Given the description of an element on the screen output the (x, y) to click on. 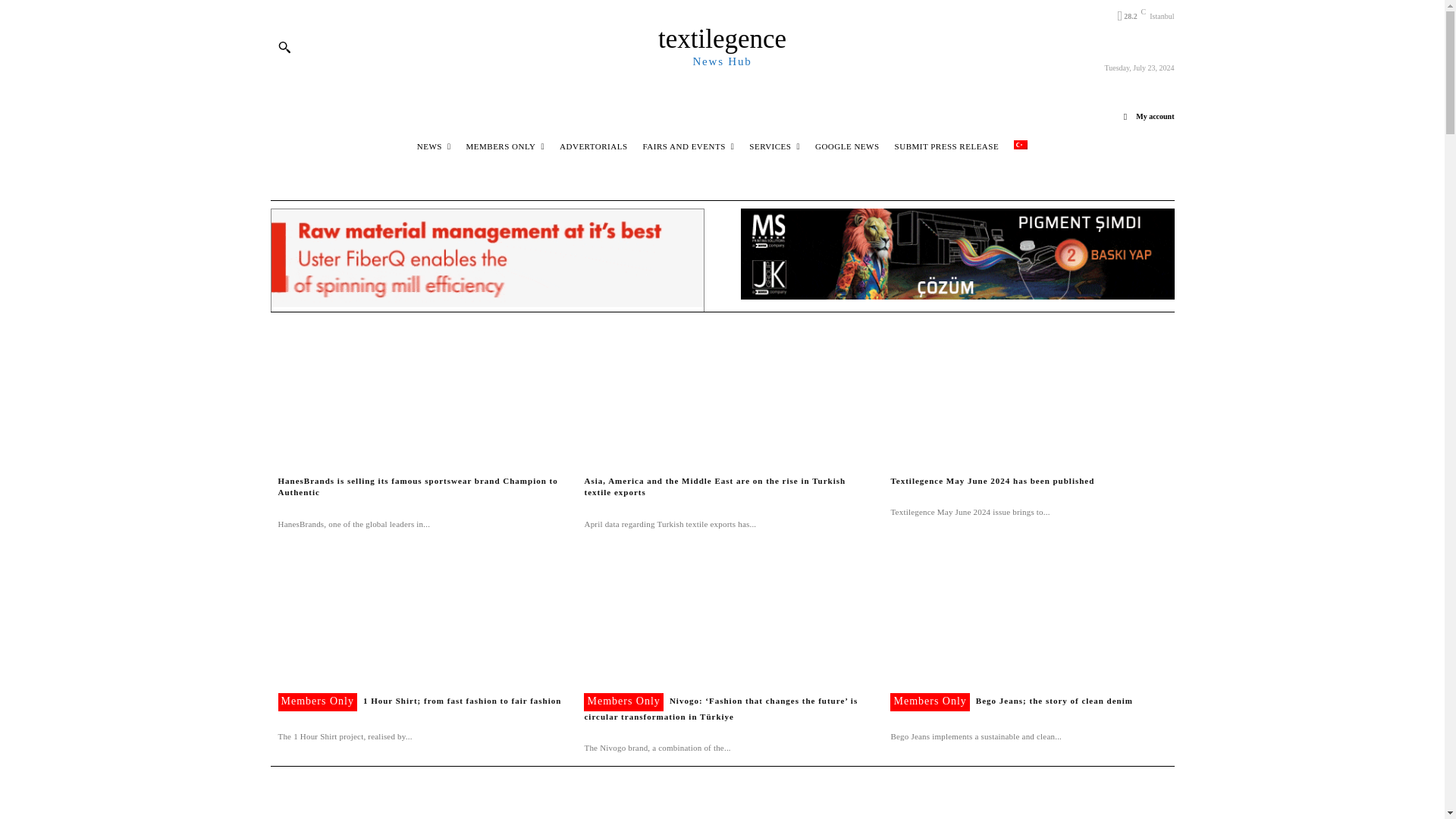
Textilegence May June 2024 has been published (1027, 393)
Textilegence May June 2024 has been published (991, 480)
